Given the description of an element on the screen output the (x, y) to click on. 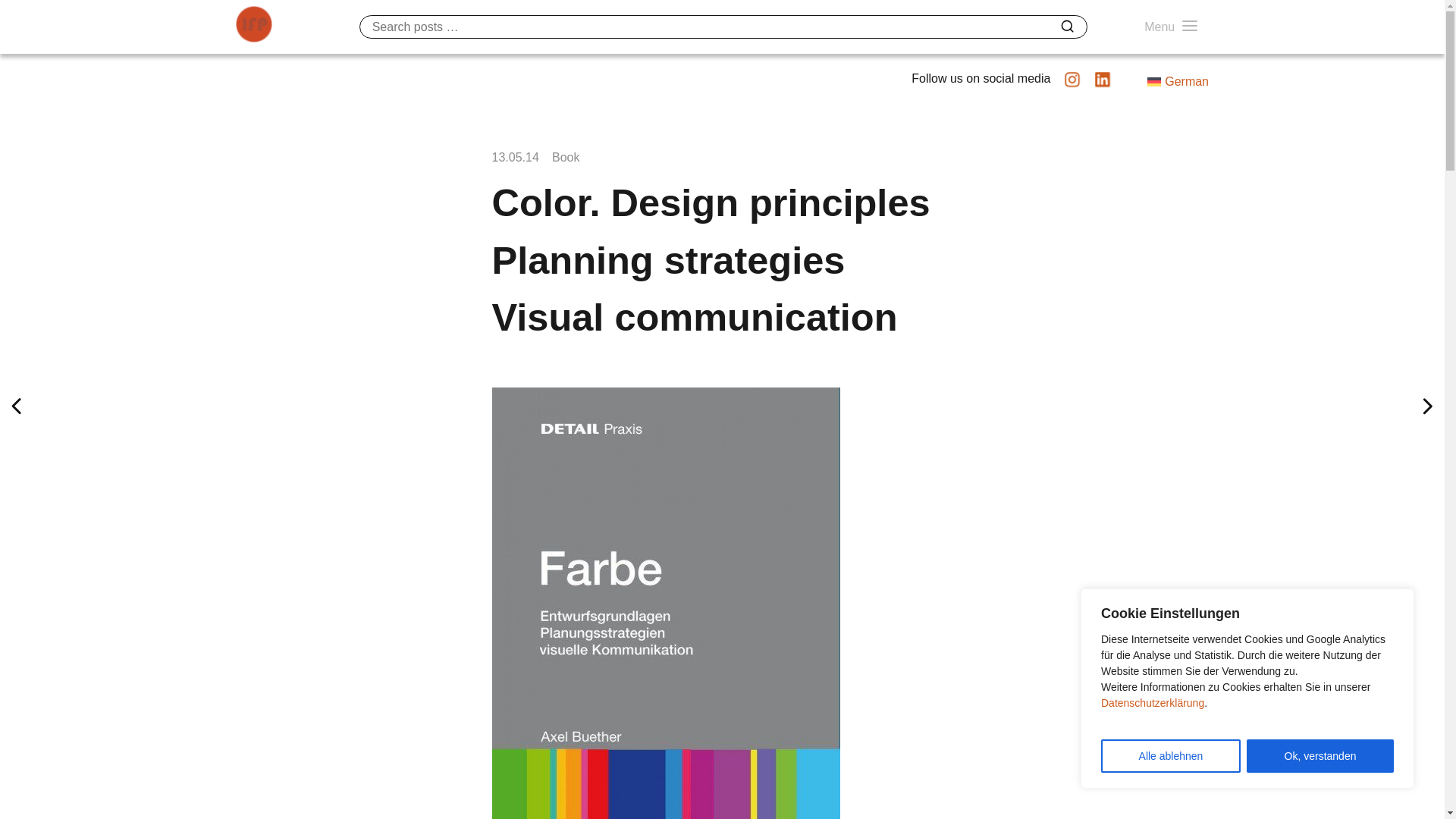
LinkedIn (1102, 84)
Instagram (1071, 84)
Alle ablehnen (1170, 756)
German (1177, 81)
German (1177, 81)
Menu (1171, 27)
Ok, verstanden (1319, 756)
